Given the description of an element on the screen output the (x, y) to click on. 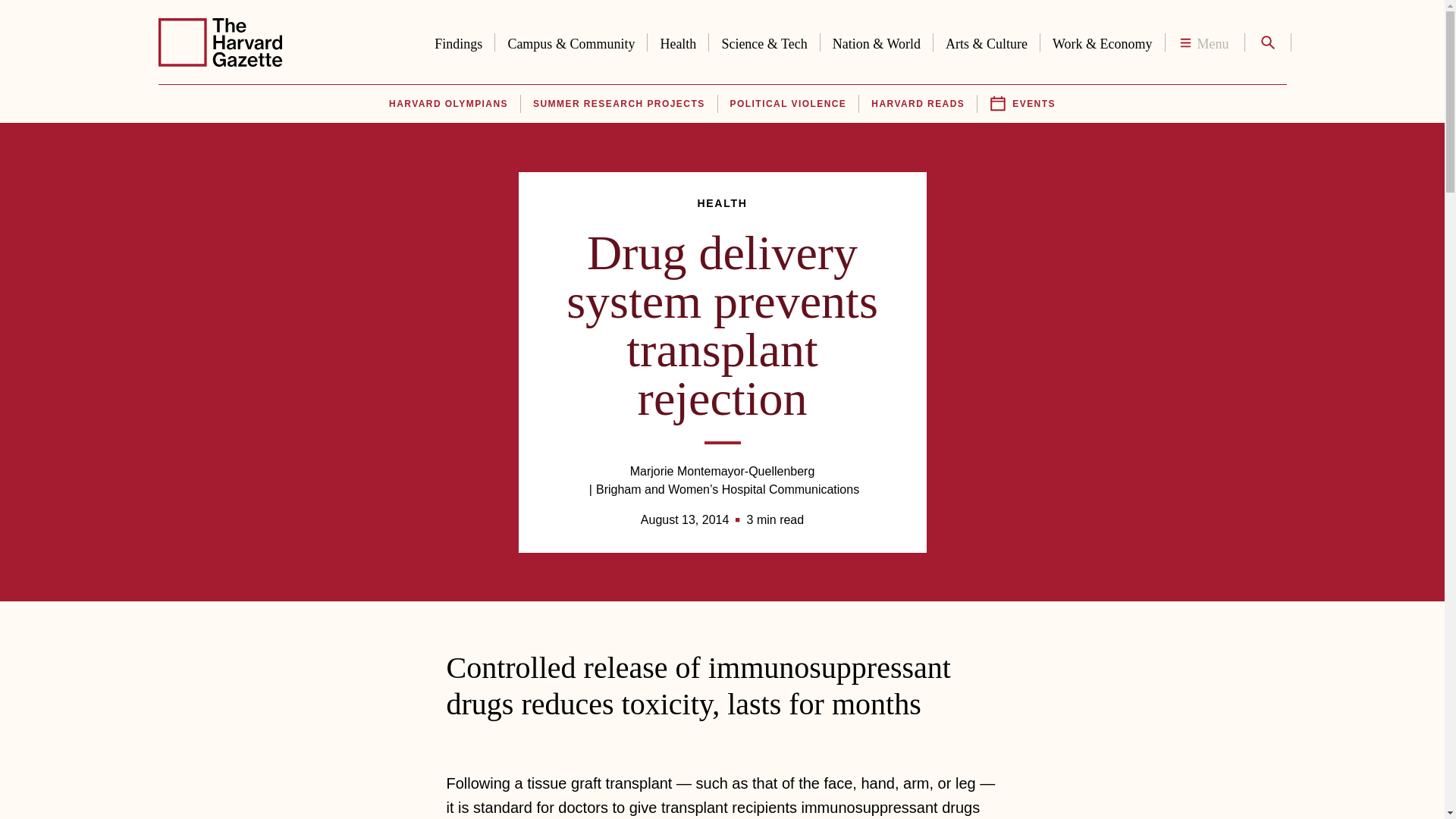
HARVARD OLYMPIANS (448, 103)
Menu (1204, 42)
SUMMER RESEARCH PROJECTS (619, 103)
Findings (457, 41)
Health (677, 41)
